Given the description of an element on the screen output the (x, y) to click on. 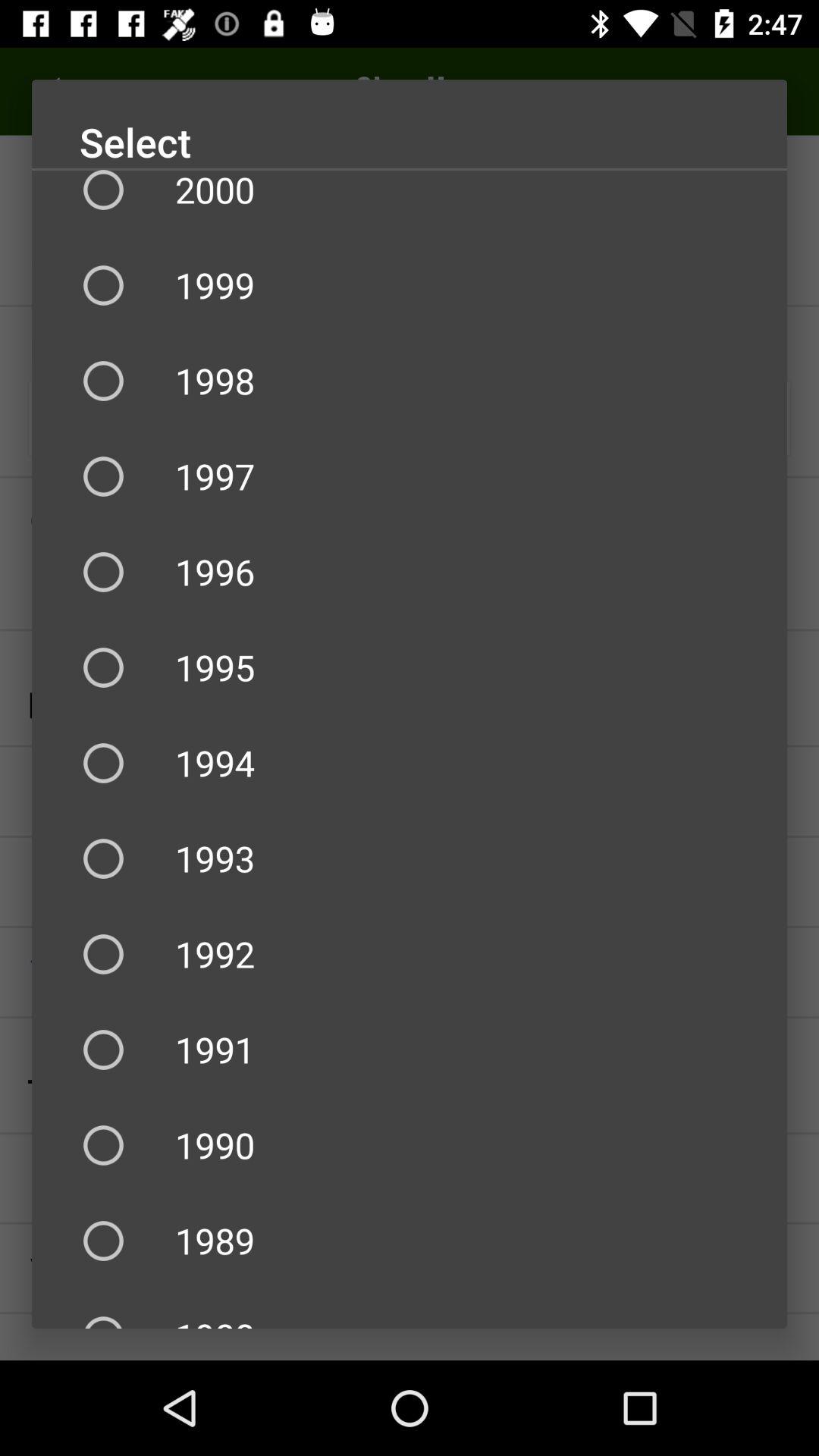
choose 1996 item (409, 571)
